Given the description of an element on the screen output the (x, y) to click on. 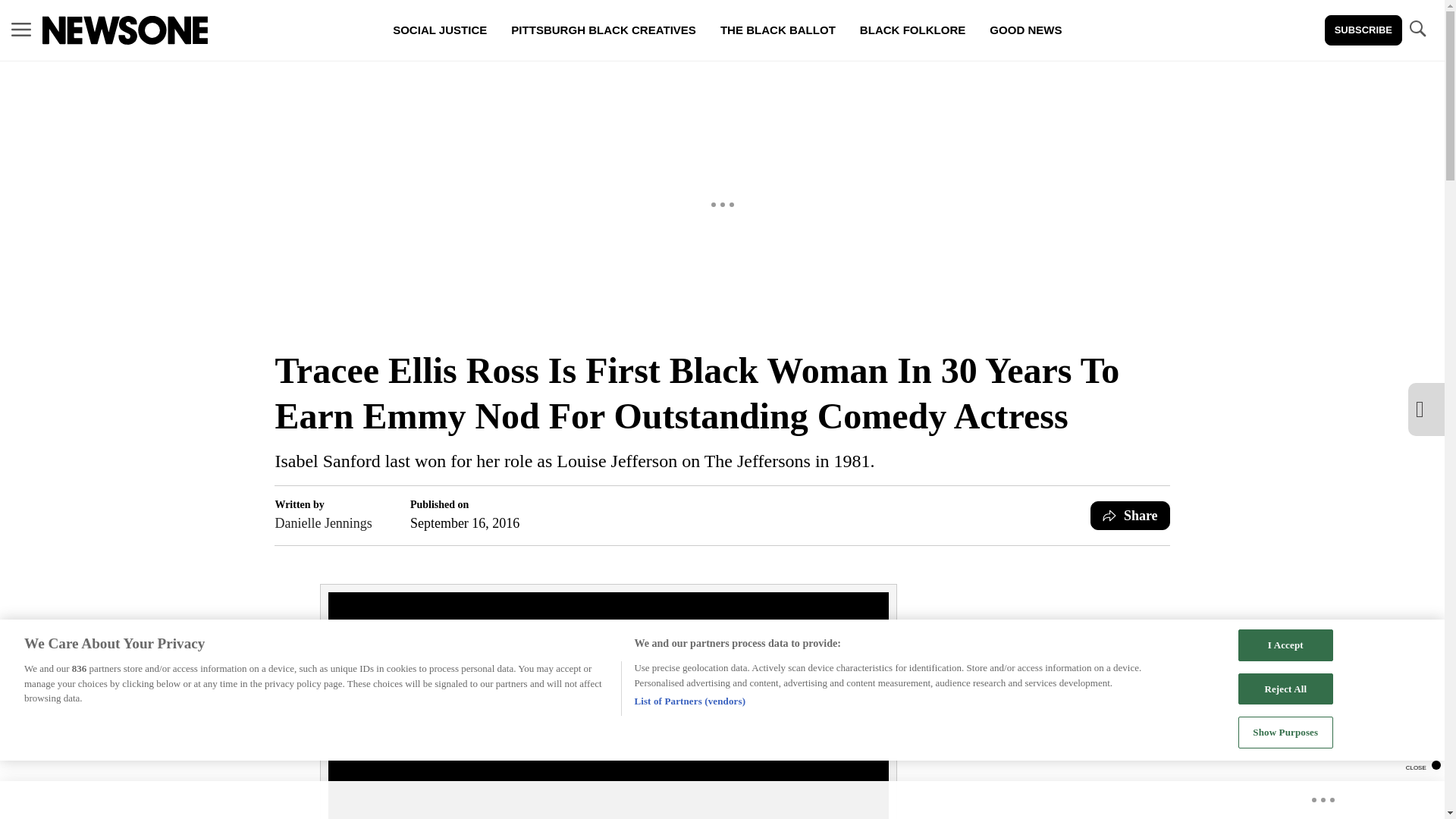
MENU (20, 29)
BLACK FOLKLORE (911, 30)
THE BLACK BALLOT (777, 30)
GOOD NEWS (1025, 30)
Danielle Jennings (323, 522)
Share (1130, 515)
TOGGLE SEARCH (1417, 28)
MENU (20, 30)
SOCIAL JUSTICE (439, 30)
PITTSBURGH BLACK CREATIVES (603, 30)
TOGGLE SEARCH (1417, 30)
SUBSCRIBE (1363, 30)
